Given the description of an element on the screen output the (x, y) to click on. 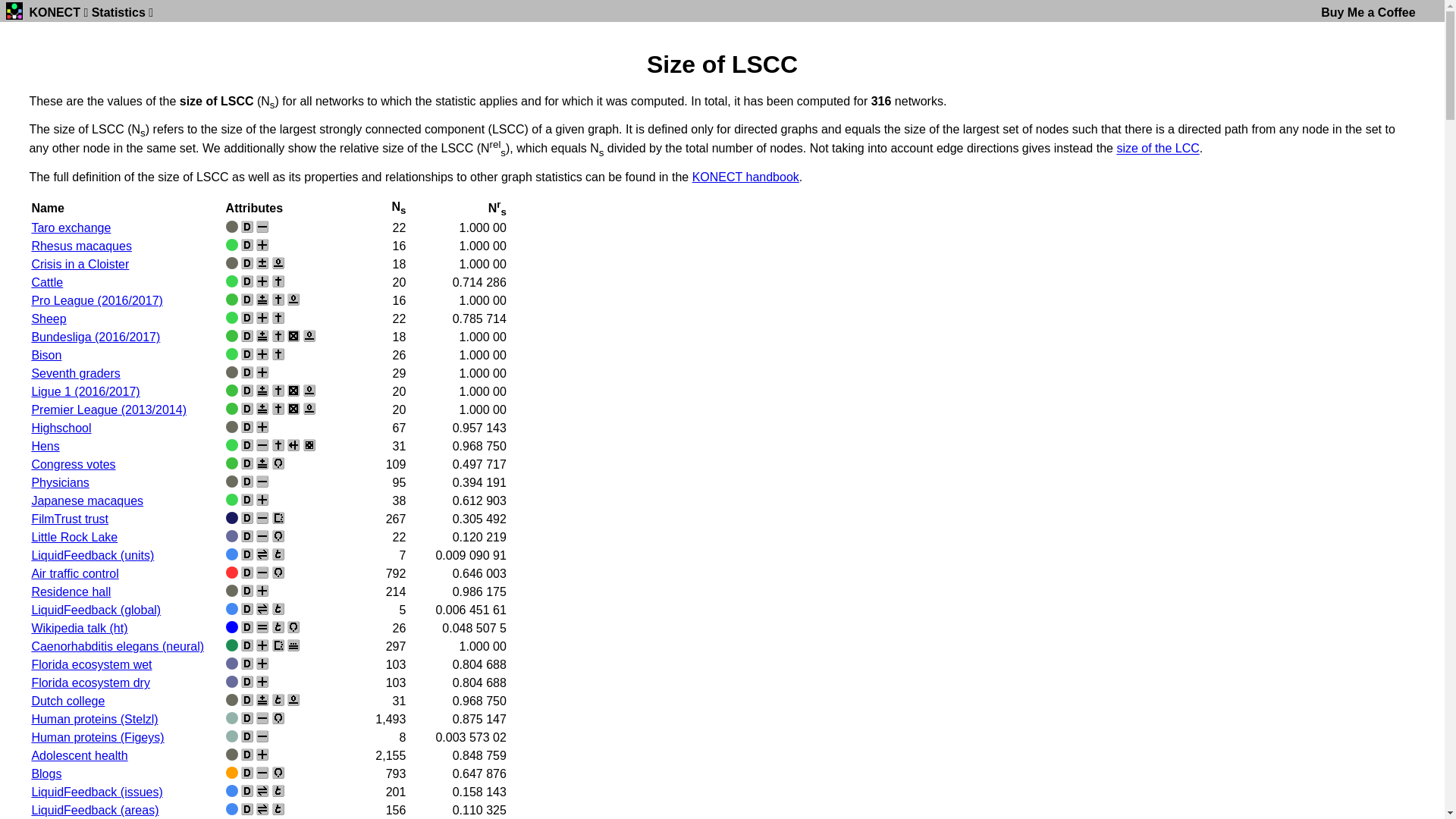
Human social network Element type: hover (231, 481)
LiquidFeedback (issues) Element type: text (96, 791)
Unweighted, no multiple edges Element type: hover (262, 445)
Sheep Element type: text (48, 318)
Signed, possibly weighted, multiple edges Element type: hover (262, 699)
Online contact network Element type: hover (231, 608)
Interaction network Element type: hover (231, 463)
Inverted edges can be interpreted as negated edges Element type: hover (278, 335)
Dynamic Element type: hover (262, 608)
Human social network Element type: hover (231, 426)
Unweighted, no multiple edges Element type: hover (262, 772)
Positive weights, no multiple edges Element type: hover (262, 354)
Inverted edges can be interpreted as negated edges Element type: hover (278, 281)
Unipartite, directed Element type: hover (247, 335)
Unipartite, directed Element type: hover (247, 426)
Unipartite, directed Element type: hover (247, 372)
Unweighted, no multiple edges Element type: hover (262, 572)
size of the LCC Element type: text (1157, 148)
Online contact network Element type: hover (231, 790)
Japanese macaques Element type: text (87, 500)
Human social network Element type: hover (231, 699)
Statistics Element type: text (118, 12)
Dynamic Element type: hover (262, 809)
Unweighted, no multiple edges Element type: hover (262, 718)
Unipartite, directed Element type: hover (247, 445)
Does not contain reciprocal edges Element type: hover (293, 445)
Unipartite, directed Element type: hover (247, 517)
Unipartite, directed Element type: hover (247, 718)
Positive weights, no multiple edges Element type: hover (262, 244)
Blogs Element type: text (46, 773)
Human social network Element type: hover (231, 590)
Positive weights, no multiple edges Element type: hover (262, 754)
Positive weights, no multiple edges Element type: hover (262, 663)
Edges may have weight zero Element type: hover (309, 390)
Inverted edges can be interpreted as negated edges Element type: hover (278, 408)
Florida ecosystem wet Element type: text (91, 664)
Trophic network Element type: hover (231, 663)
Edges are annotated with timestamps Element type: hover (278, 809)
Dutch college Element type: text (67, 700)
Animal network Element type: hover (231, 281)
Unipartite, directed Element type: hover (247, 627)
Unweighted, no multiple edges Element type: hover (262, 736)
Contains loops Element type: hover (278, 536)
Unipartite, directed Element type: hover (247, 536)
Unipartite, directed Element type: hover (247, 809)
Unweighted, no multiple edges Element type: hover (262, 481)
Inverted edges can be interpreted as negated edges Element type: hover (278, 317)
Unipartite, directed Element type: hover (247, 263)
Dynamic Element type: hover (262, 790)
Rhesus macaques Element type: text (81, 245)
Unweighted, multiple edges Element type: hover (262, 627)
FilmTrust trust Element type: text (69, 518)
Contains loops Element type: hover (278, 572)
Premier League (2013/2014) Element type: text (108, 409)
Edges may have weight zero Element type: hover (278, 263)
Human proteins (Figeys) Element type: text (97, 737)
Animal network Element type: hover (231, 244)
Animal network Element type: hover (231, 317)
Interaction network Element type: hover (231, 299)
Unipartite, directed Element type: hover (247, 317)
Interaction network Element type: hover (231, 335)
Unipartite, directed Element type: hover (247, 645)
Cattle Element type: text (46, 282)
Edges exist between all possible nodes Element type: hover (293, 408)
Edges exist between all possible nodes Element type: hover (293, 335)
Highschool Element type: text (61, 427)
Seventh graders Element type: text (75, 373)
All pairs of nodes are connected by a directed edge Element type: hover (309, 445)
Positive weights, no multiple edges Element type: hover (262, 426)
Online social network Element type: hover (231, 517)
KONECT Element type: text (54, 12)
Infrastructure network Element type: hover (231, 572)
Unipartite, directed Element type: hover (247, 572)
Hyperlink network Element type: hover (231, 772)
Unweighted, no multiple edges Element type: hover (262, 517)
Physicians Element type: text (59, 482)
Unipartite, directed Element type: hover (247, 281)
Does not have multiple edges, but the underlying data has Element type: hover (293, 645)
Edges may have weight zero Element type: hover (309, 335)
Bundesliga (2016/2017) Element type: text (95, 336)
Contains loops Element type: hover (278, 463)
Hens Element type: text (45, 445)
Inverted edges can be interpreted as negated edges Element type: hover (278, 299)
Trophic network Element type: hover (231, 681)
LiquidFeedback (areas) Element type: text (94, 809)
Buy Me a Coffee Element type: text (1368, 12)
Little Rock Lake Element type: text (74, 536)
Human social network Element type: hover (231, 263)
Wikipedia talk (ht) Element type: text (79, 627)
Positive weights, no multiple edges Element type: hover (262, 499)
Adolescent health Element type: text (79, 755)
Human proteins (Stelzl) Element type: text (94, 718)
Residence hall Element type: text (70, 591)
Air traffic control Element type: text (74, 573)
Communication network Element type: hover (231, 627)
Contains loops Element type: hover (293, 627)
Unipartite, directed Element type: hover (247, 354)
Neural network Element type: hover (231, 645)
Unweighted, no multiple edges Element type: hover (262, 226)
Online contact network Element type: hover (231, 809)
Metabolic network Element type: hover (231, 736)
Interaction network Element type: hover (231, 390)
Crisis in a Cloister Element type: text (79, 263)
Unipartite, directed Element type: hover (247, 736)
Edges are annotated with timestamps Element type: hover (278, 699)
Edges exist between all possible nodes Element type: hover (293, 390)
Animal network Element type: hover (231, 445)
Interaction network Element type: hover (231, 408)
Trophic network Element type: hover (231, 536)
Inverted edges can be interpreted as negated edges Element type: hover (278, 445)
Is a snapshot and likely to not contain all data Element type: hover (278, 645)
Online contact network Element type: hover (231, 554)
Human social network Element type: hover (231, 226)
Edges are annotated with timestamps Element type: hover (278, 627)
Contains loops Element type: hover (278, 718)
Unipartite, directed Element type: hover (247, 699)
Unipartite, directed Element type: hover (247, 390)
Signed, possibly weighted, no multiple edges Element type: hover (262, 263)
Inverted edges can be interpreted as negated edges Element type: hover (278, 390)
Contains loops Element type: hover (278, 772)
Unipartite, directed Element type: hover (247, 226)
Inverted edges can be interpreted as negated edges Element type: hover (278, 354)
Unipartite, directed Element type: hover (247, 499)
Unipartite, directed Element type: hover (247, 608)
Signed, possibly weighted, multiple edges Element type: hover (262, 463)
Positive weights, no multiple edges Element type: hover (262, 590)
Ligue 1 (2016/2017) Element type: text (85, 391)
Pro League (2016/2017) Element type: text (96, 300)
KONECT handbook Element type: text (745, 176)
Positive weights, no multiple edges Element type: hover (262, 281)
Positive weights, no multiple edges Element type: hover (262, 372)
Edges may have weight zero Element type: hover (293, 699)
Positive weights, no multiple edges Element type: hover (262, 645)
Metabolic network Element type: hover (231, 718)
Unweighted, no multiple edges Element type: hover (262, 536)
Signed, possibly weighted, multiple edges Element type: hover (262, 408)
Signed, possibly weighted, multiple edges Element type: hover (262, 390)
Animal network Element type: hover (231, 499)
Positive weights, no multiple edges Element type: hover (262, 317)
Signed, possibly weighted, multiple edges Element type: hover (262, 335)
Dynamic Element type: hover (262, 554)
Unipartite, directed Element type: hover (247, 590)
Animal network Element type: hover (231, 354)
Florida ecosystem dry Element type: text (90, 682)
Caenorhabditis elegans (neural) Element type: text (117, 646)
Positive weights, no multiple edges Element type: hover (262, 681)
Unipartite, directed Element type: hover (247, 244)
Unipartite, directed Element type: hover (247, 463)
Human social network Element type: hover (231, 754)
Congress votes Element type: text (73, 464)
Unipartite, directed Element type: hover (247, 299)
Unipartite, directed Element type: hover (247, 554)
Unipartite, directed Element type: hover (247, 481)
Edges are annotated with timestamps Element type: hover (278, 790)
Signed, possibly weighted, multiple edges Element type: hover (262, 299)
Unipartite, directed Element type: hover (247, 790)
Edges may have weight zero Element type: hover (309, 408)
Is a snapshot and likely to not contain all data Element type: hover (278, 517)
Unipartite, directed Element type: hover (247, 772)
Unipartite, directed Element type: hover (247, 754)
Edges are annotated with timestamps Element type: hover (278, 554)
LiquidFeedback (units) Element type: text (92, 555)
Unipartite, directed Element type: hover (247, 663)
Bison Element type: text (46, 354)
Edges may have weight zero Element type: hover (293, 299)
Taro exchange Element type: text (70, 227)
Unipartite, directed Element type: hover (247, 681)
Edges are annotated with timestamps Element type: hover (278, 608)
LiquidFeedback (global) Element type: text (95, 609)
Unipartite, directed Element type: hover (247, 408)
Human social network Element type: hover (231, 372)
